Given the description of an element on the screen output the (x, y) to click on. 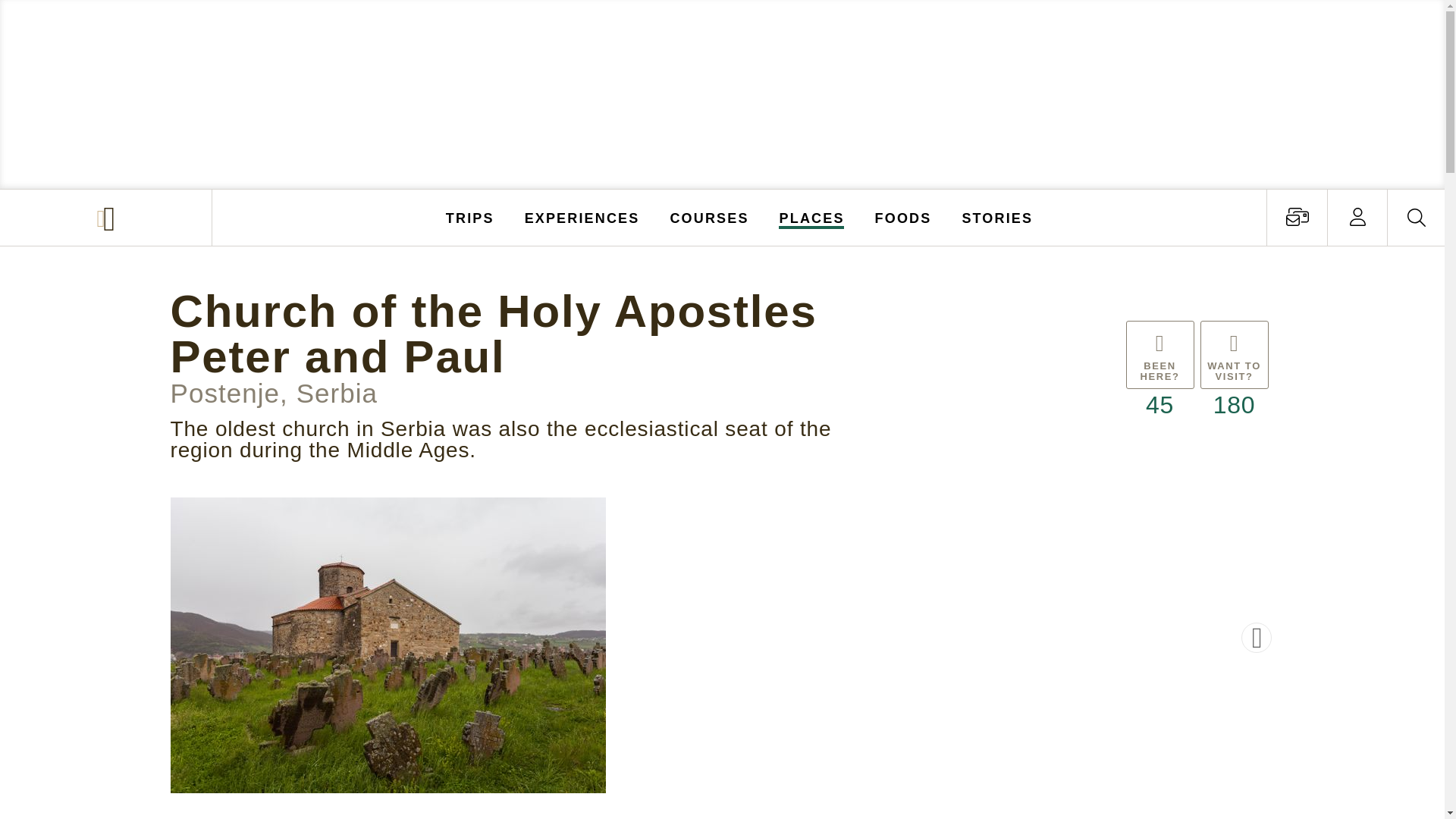
COURSES (707, 217)
PLACES (812, 217)
TRIPS (469, 217)
EXPERIENCES (582, 217)
